Given the description of an element on the screen output the (x, y) to click on. 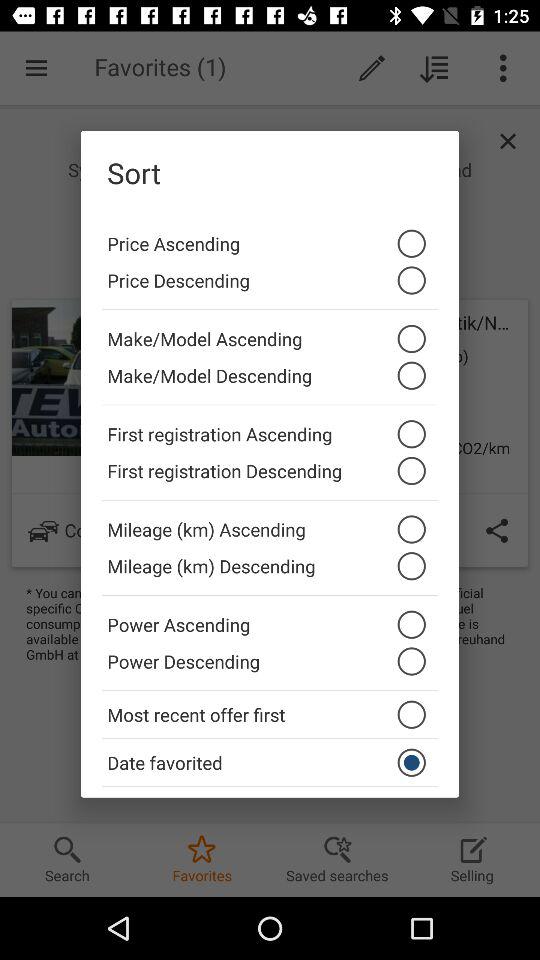
scroll until power ascending icon (269, 619)
